Given the description of an element on the screen output the (x, y) to click on. 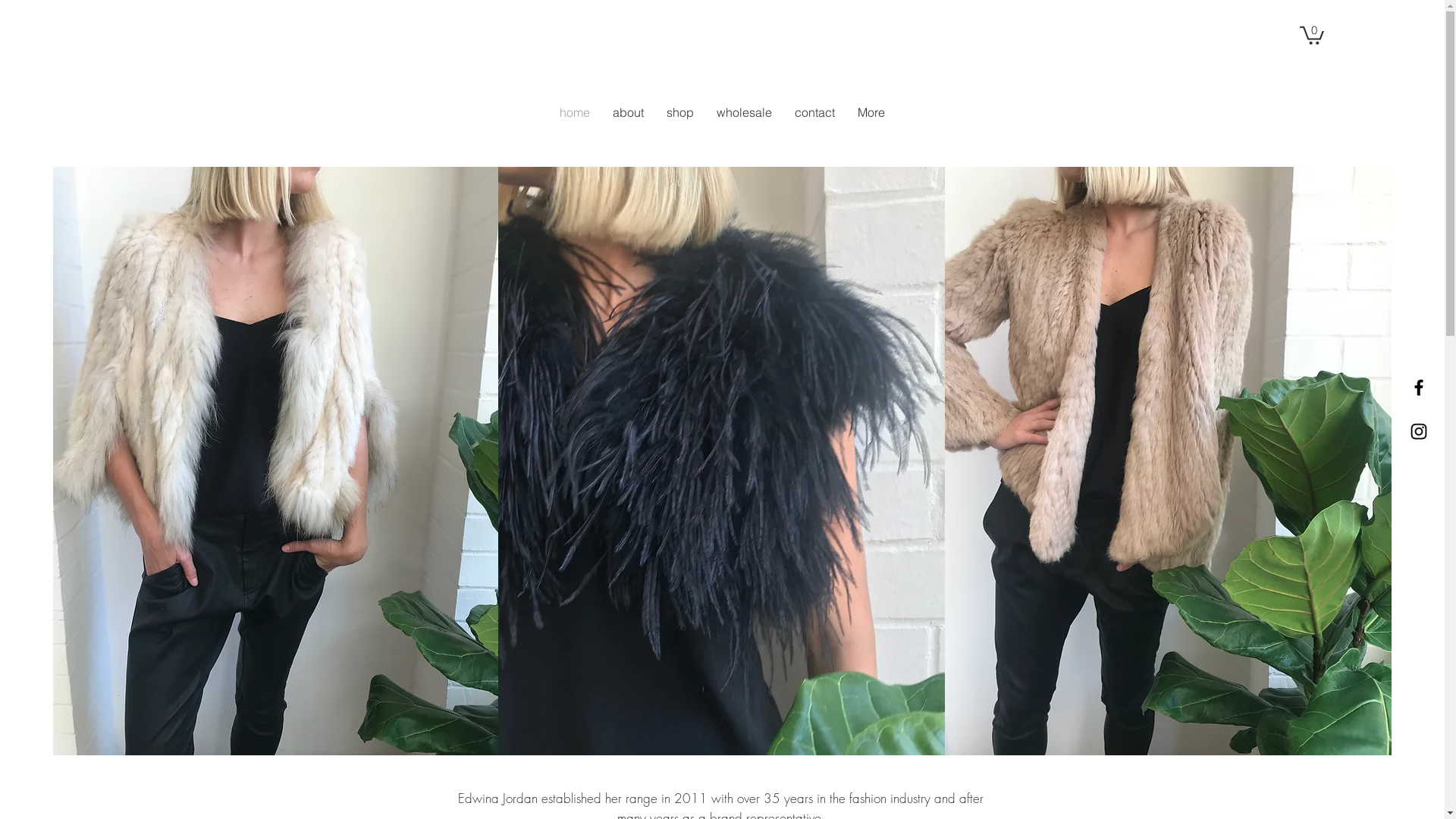
0 Element type: text (1311, 34)
home Element type: text (573, 122)
about Element type: text (627, 122)
wholesale Element type: text (744, 122)
shop Element type: text (680, 122)
contact Element type: text (813, 122)
